Given the description of an element on the screen output the (x, y) to click on. 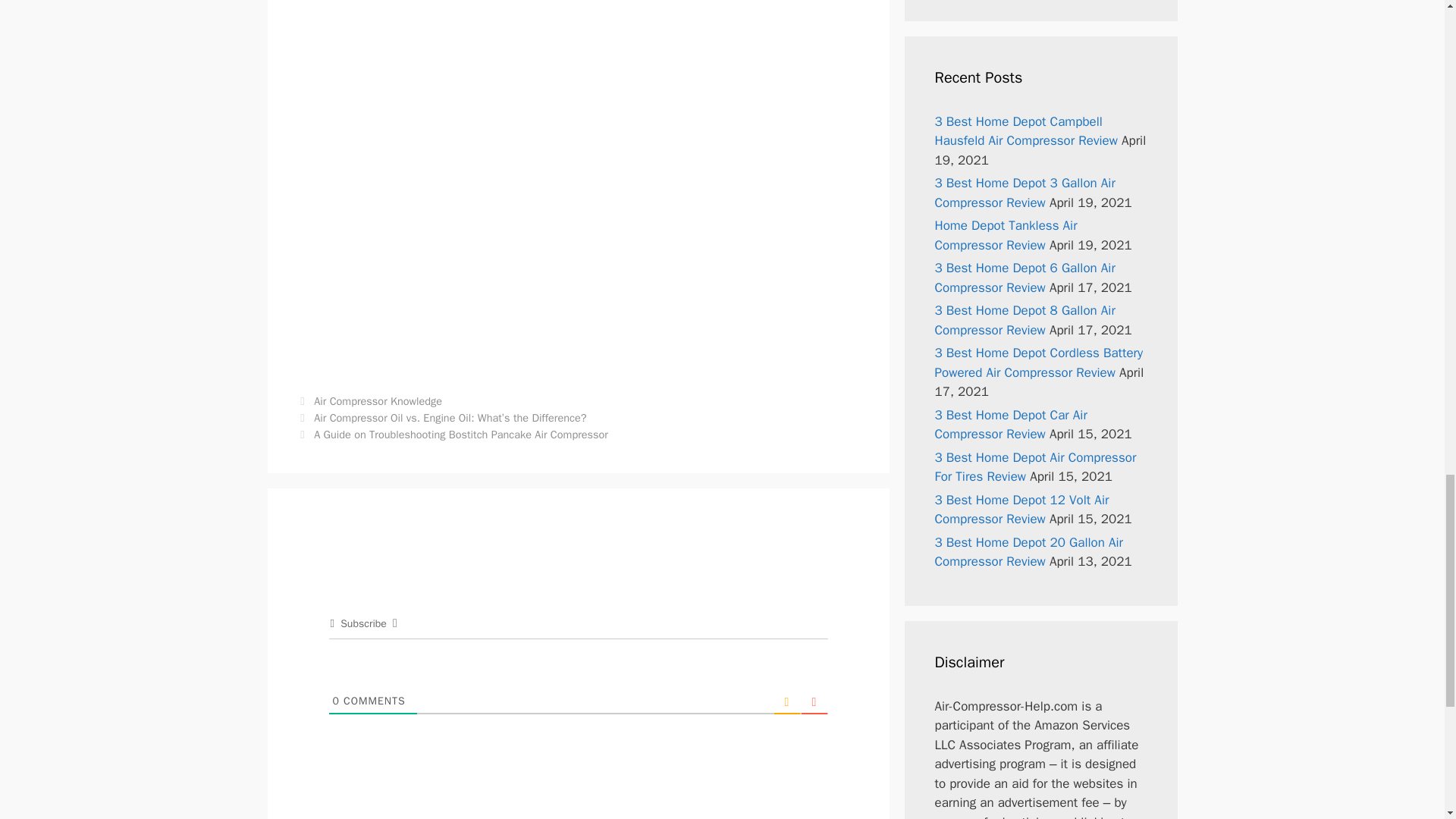
Next (452, 434)
A Guide on Troubleshooting Bostitch Pancake Air Compressor (461, 434)
Air Compressor Knowledge (378, 400)
Previous (441, 418)
